Given the description of an element on the screen output the (x, y) to click on. 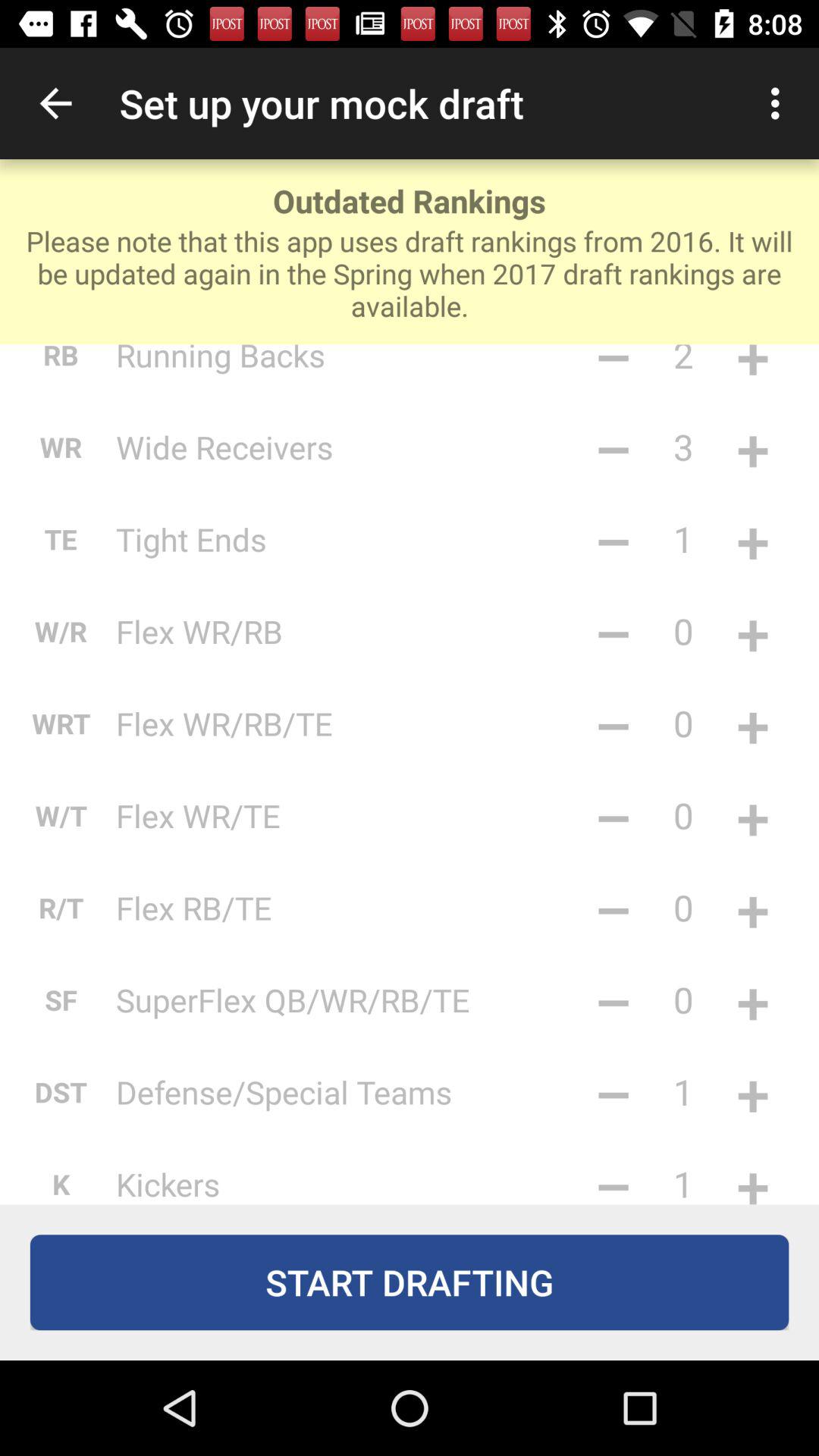
turn on item to the right of 2 item (752, 368)
